Given the description of an element on the screen output the (x, y) to click on. 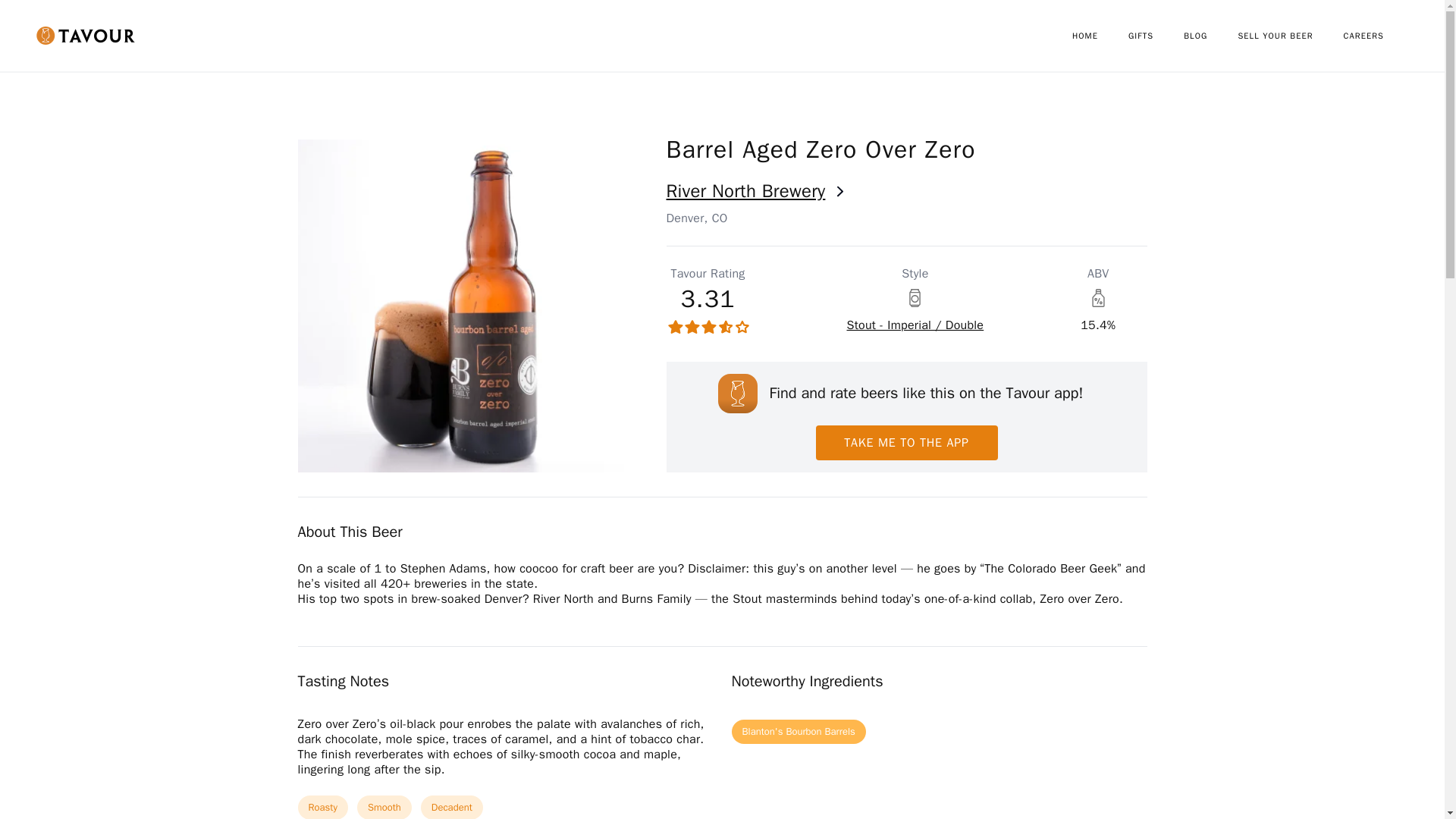
SELL YOUR BEER (1289, 35)
careers (1378, 35)
sell your beer (1289, 35)
GIFTS (1155, 35)
TAKE ME TO THE APP (906, 442)
HOME (1099, 35)
home (1099, 35)
blog (1210, 35)
gifts (1155, 35)
BLOG (1210, 35)
CAREERS (1378, 35)
River North Brewery (906, 191)
